Given the description of an element on the screen output the (x, y) to click on. 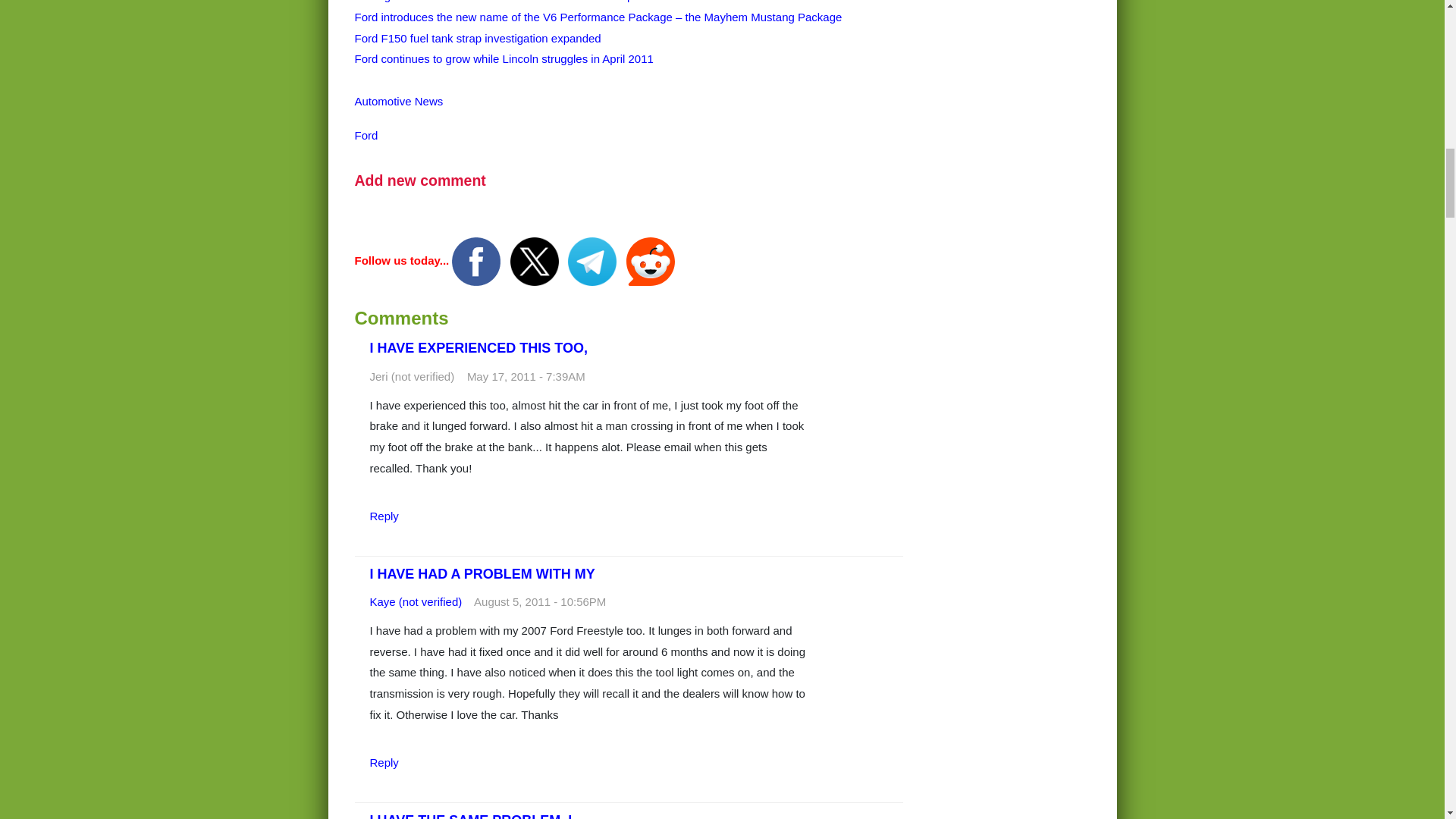
Ford F150 fuel tank strap investigation expanded (478, 38)
Automotive News (399, 101)
Reply (383, 762)
Join us on Telegram! (593, 259)
Share your thoughts and opinions. (420, 180)
I HAVE HAD A PROBLEM WITH MY (482, 573)
I HAVE THE SAME PROBLEM. I (470, 816)
Join us on Reddit! (650, 259)
I HAVE EXPERIENCED THIS TOO, (478, 347)
Add new comment (420, 180)
